Given the description of an element on the screen output the (x, y) to click on. 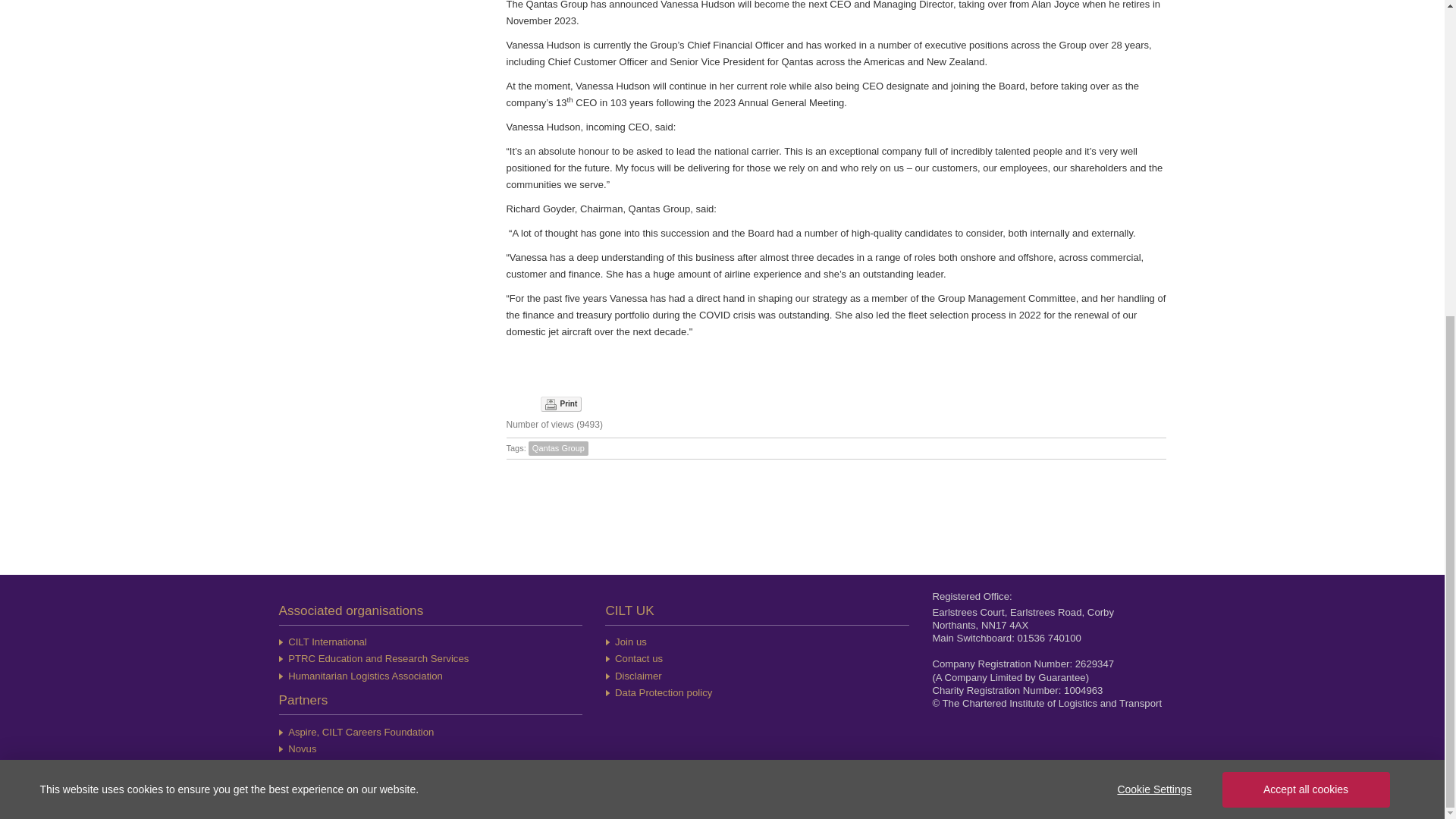
Accept all cookies (1306, 281)
Cookie Settings (1153, 281)
